Given the description of an element on the screen output the (x, y) to click on. 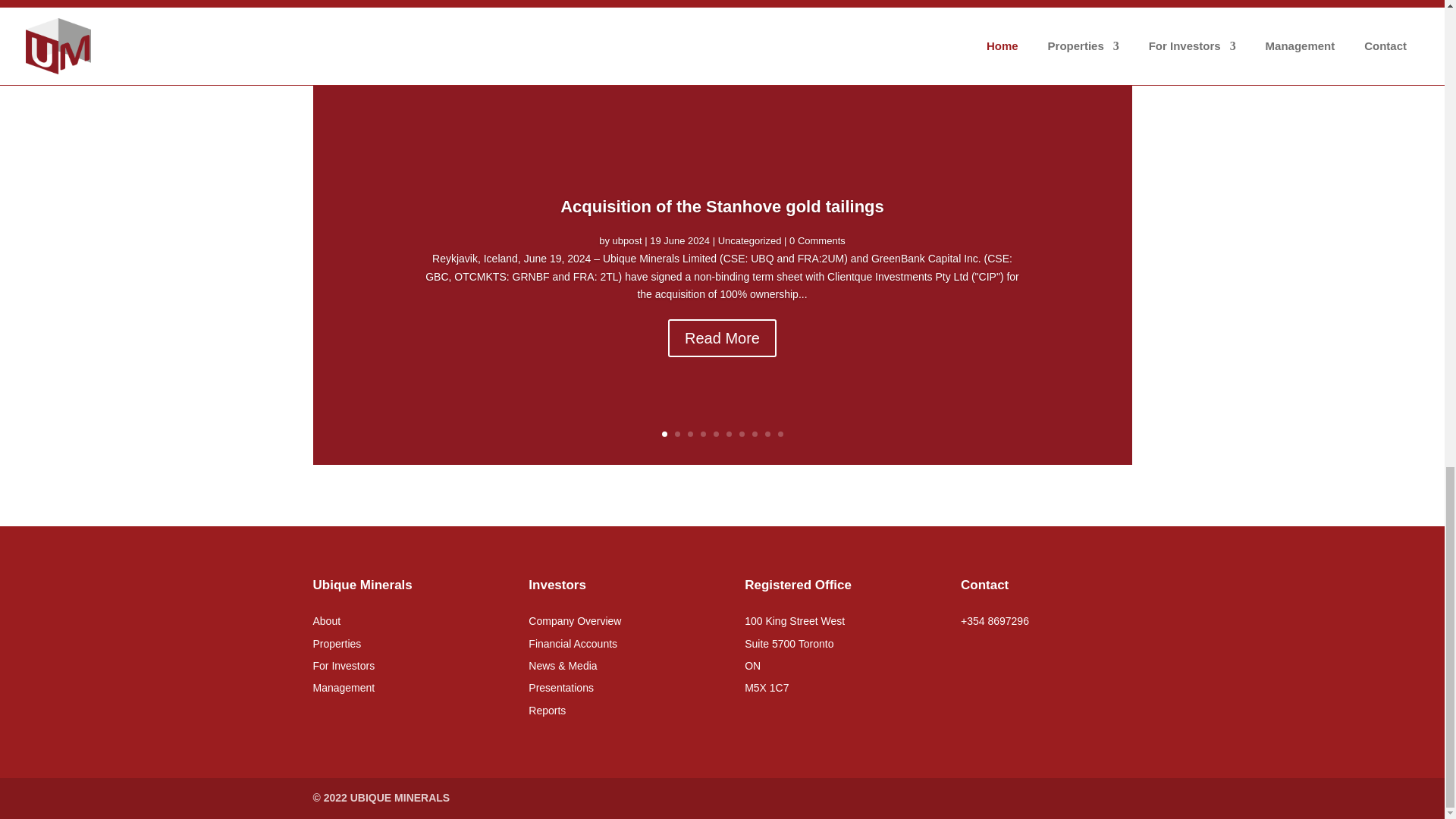
Posts by ubpost (627, 255)
